Given the description of an element on the screen output the (x, y) to click on. 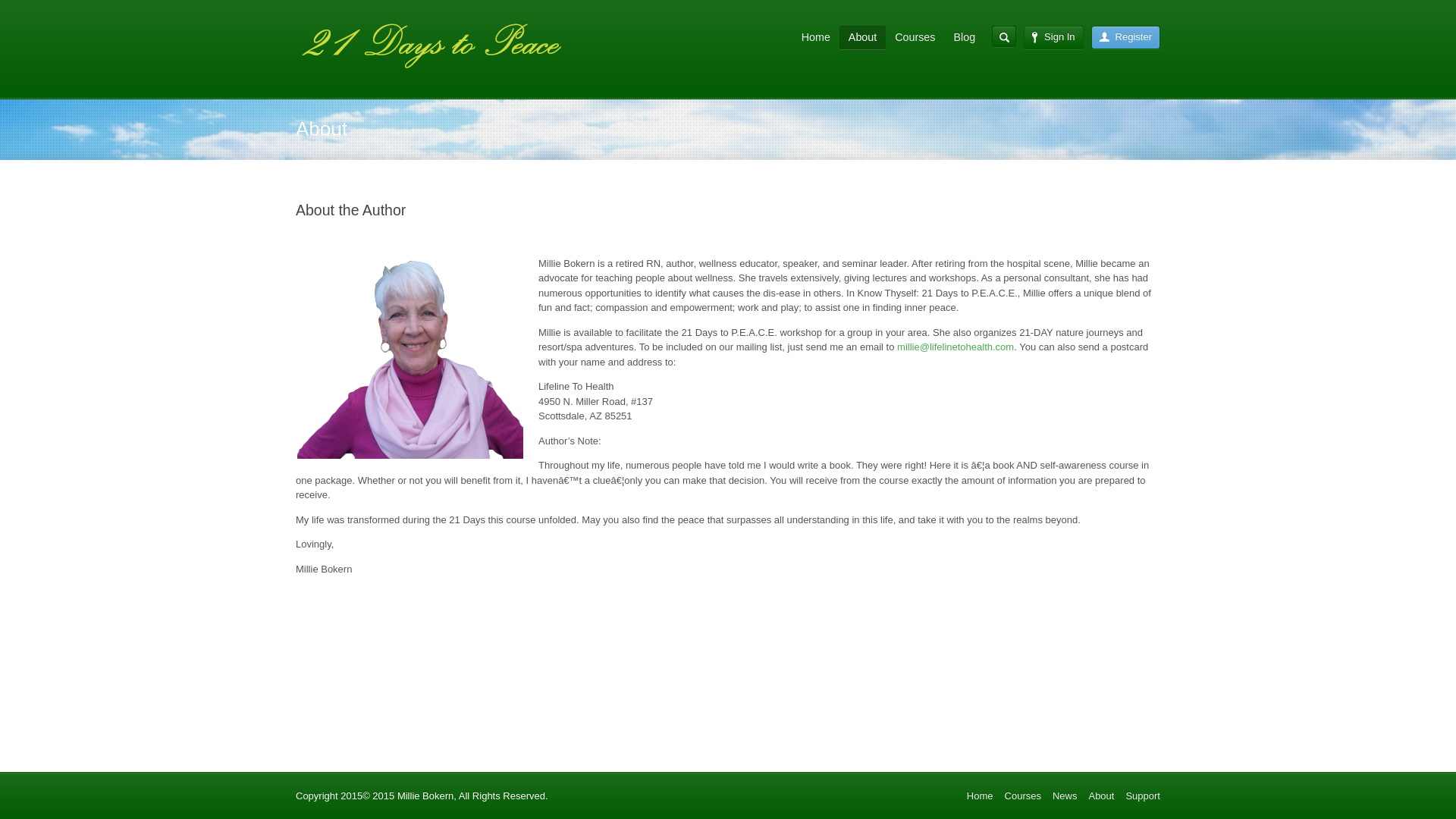
About Element type: text (1100, 795)
Sign In Element type: text (1053, 36)
About Element type: text (862, 37)
millie@lifelinetohealth.com Element type: text (955, 346)
News Element type: text (1064, 795)
Courses Element type: text (1022, 795)
Register Element type: text (1125, 36)
Courses Element type: text (914, 37)
Home Element type: text (979, 795)
Blog Element type: text (964, 37)
Home Element type: text (815, 37)
Support Element type: text (1142, 795)
